Given the description of an element on the screen output the (x, y) to click on. 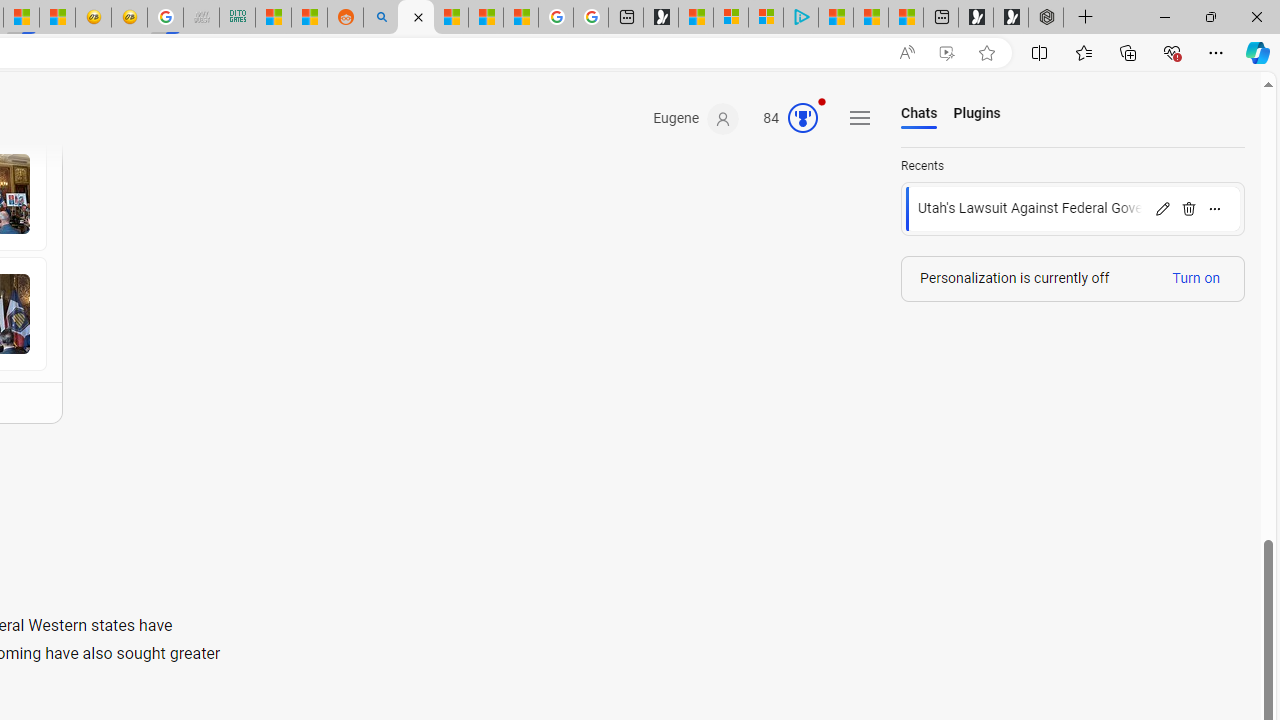
Plugins (976, 113)
Utah sues federal government - Search (380, 17)
Load chat (1073, 209)
Chats (919, 113)
